Given the description of an element on the screen output the (x, y) to click on. 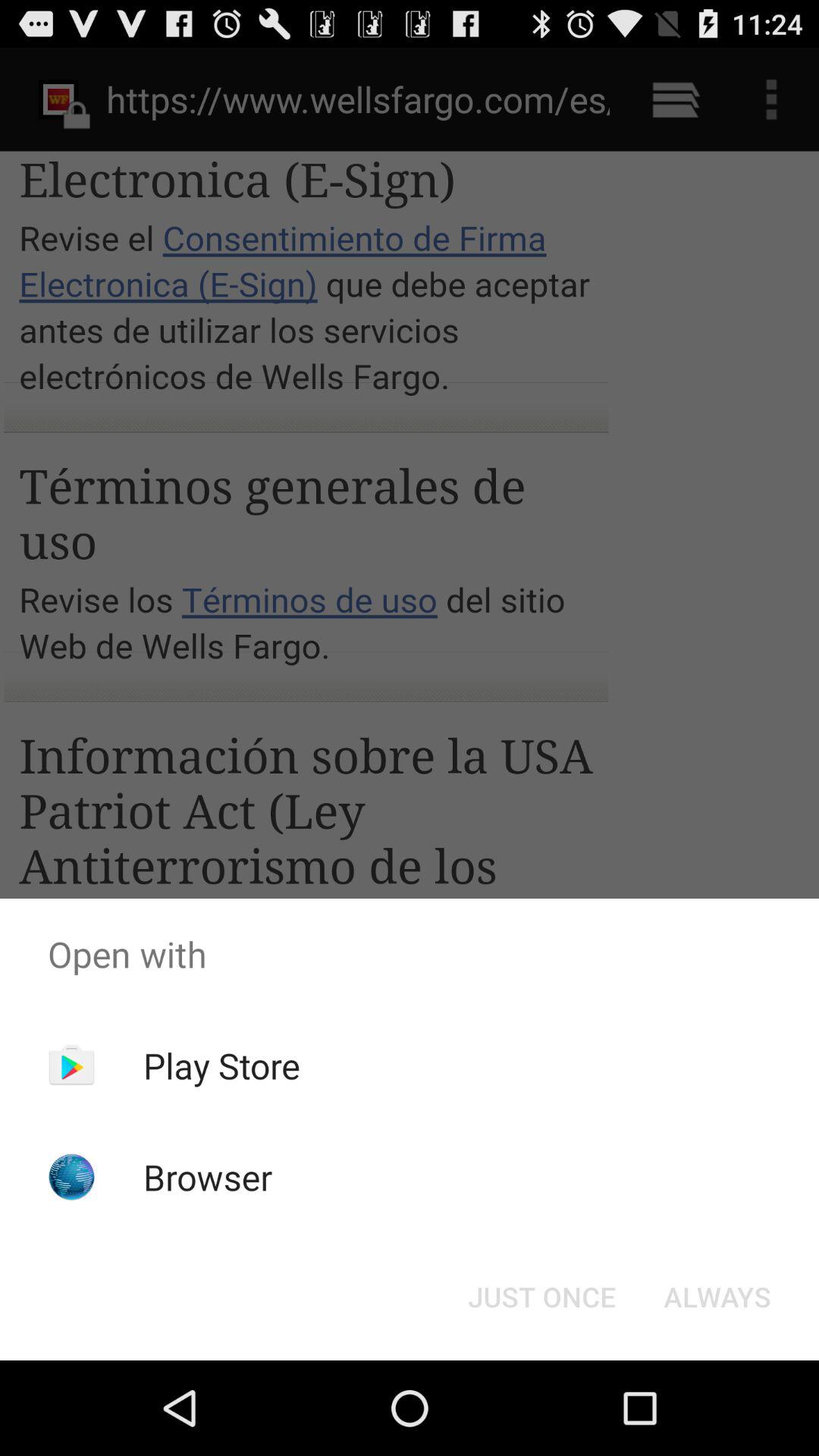
launch the icon below play store icon (207, 1176)
